Given the description of an element on the screen output the (x, y) to click on. 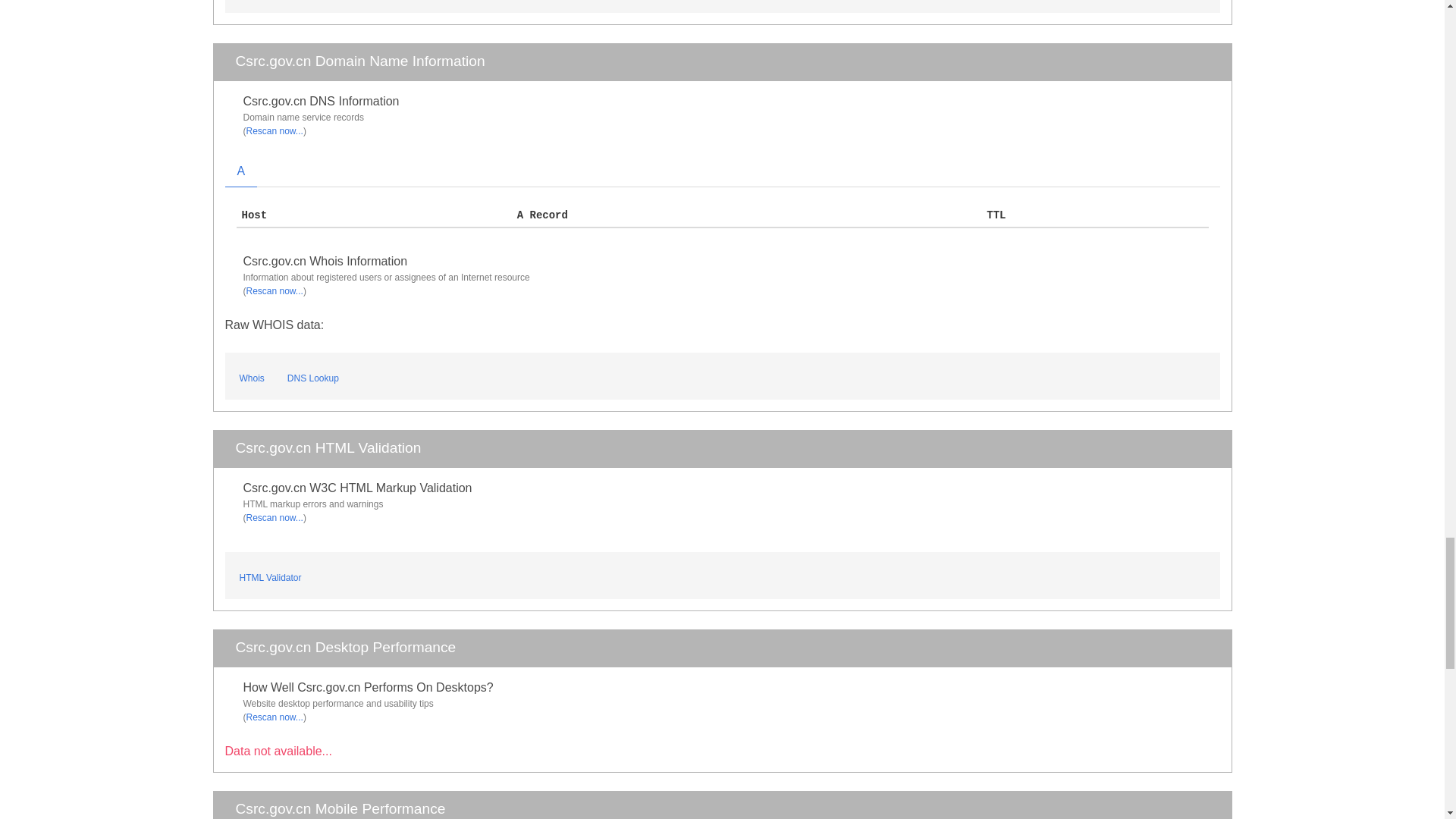
Open HTML validation tool... (268, 575)
Open DNS lookup tool... (312, 375)
Open WHOIS lookup tool... (250, 375)
Open geolocation tool... (262, 0)
Open ASN lookup tool... (336, 0)
